Given the description of an element on the screen output the (x, y) to click on. 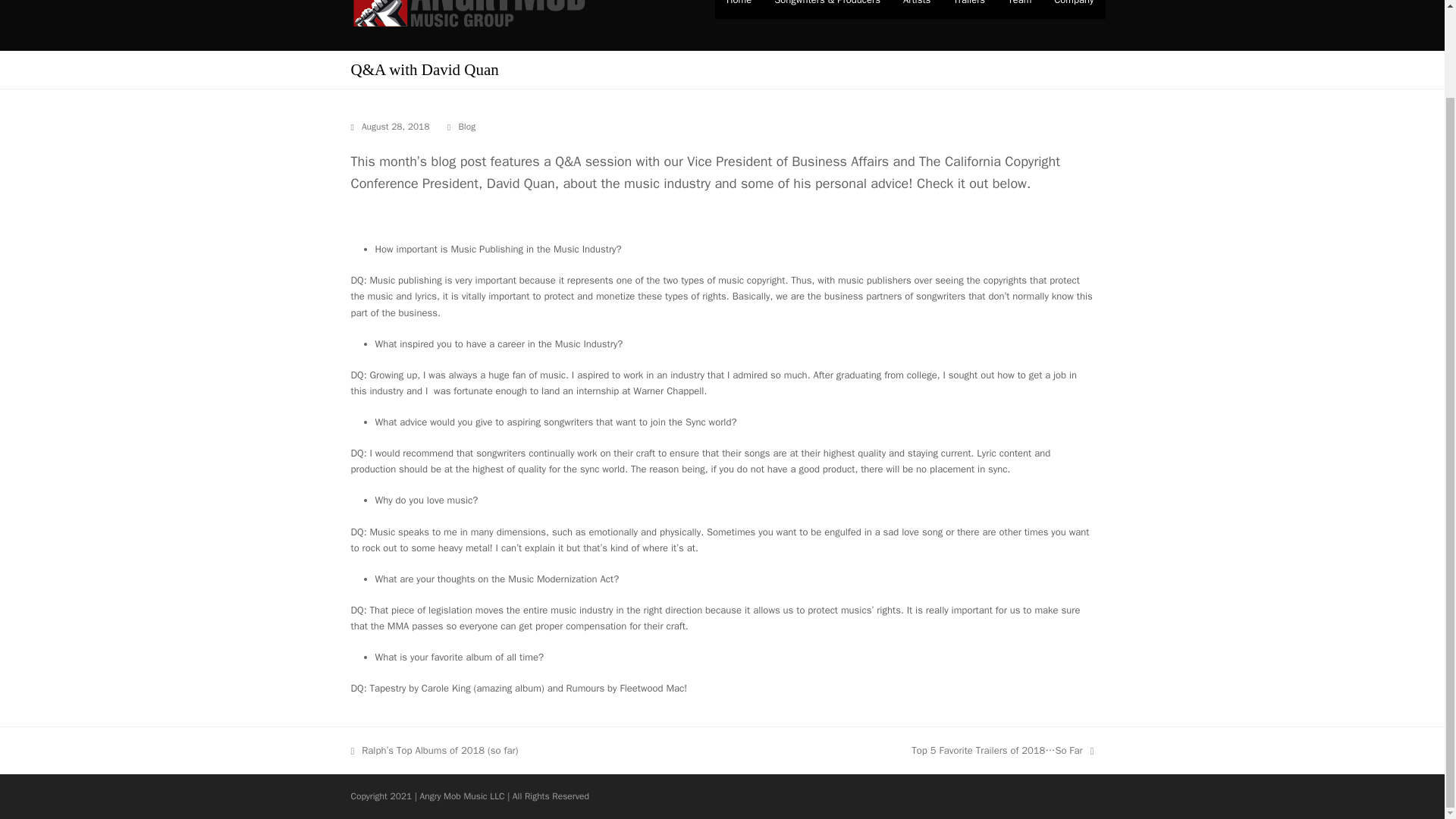
Home (738, 9)
Company (1073, 9)
Artists (916, 9)
Trailers (968, 9)
Team (1018, 9)
Home (738, 9)
Blog (467, 126)
